Given the description of an element on the screen output the (x, y) to click on. 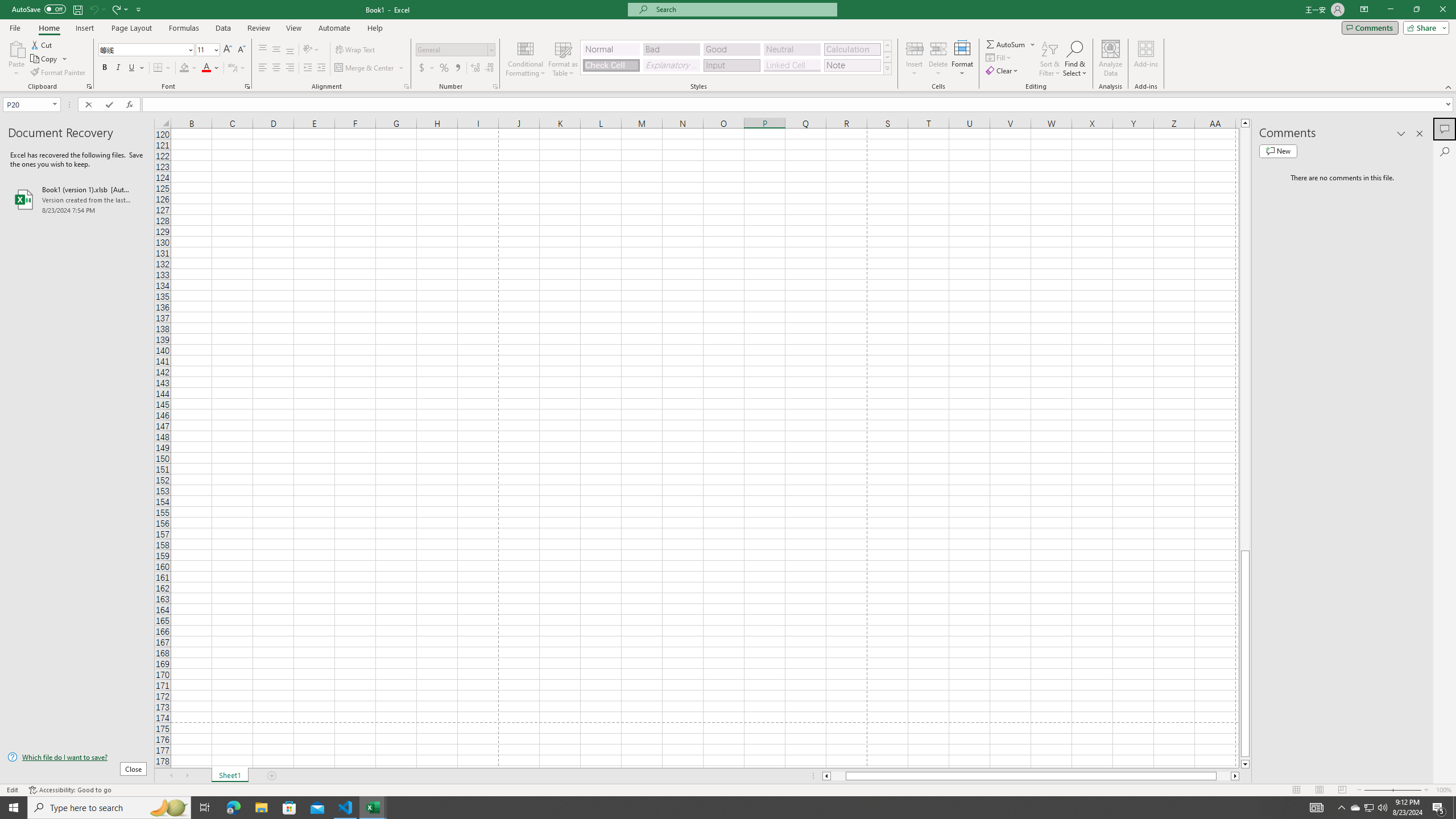
Font Size (207, 49)
Paste (16, 58)
Note (852, 65)
Check Cell (611, 65)
Orientation (311, 49)
Office Clipboard... (88, 85)
Format as Table (563, 58)
